Given the description of an element on the screen output the (x, y) to click on. 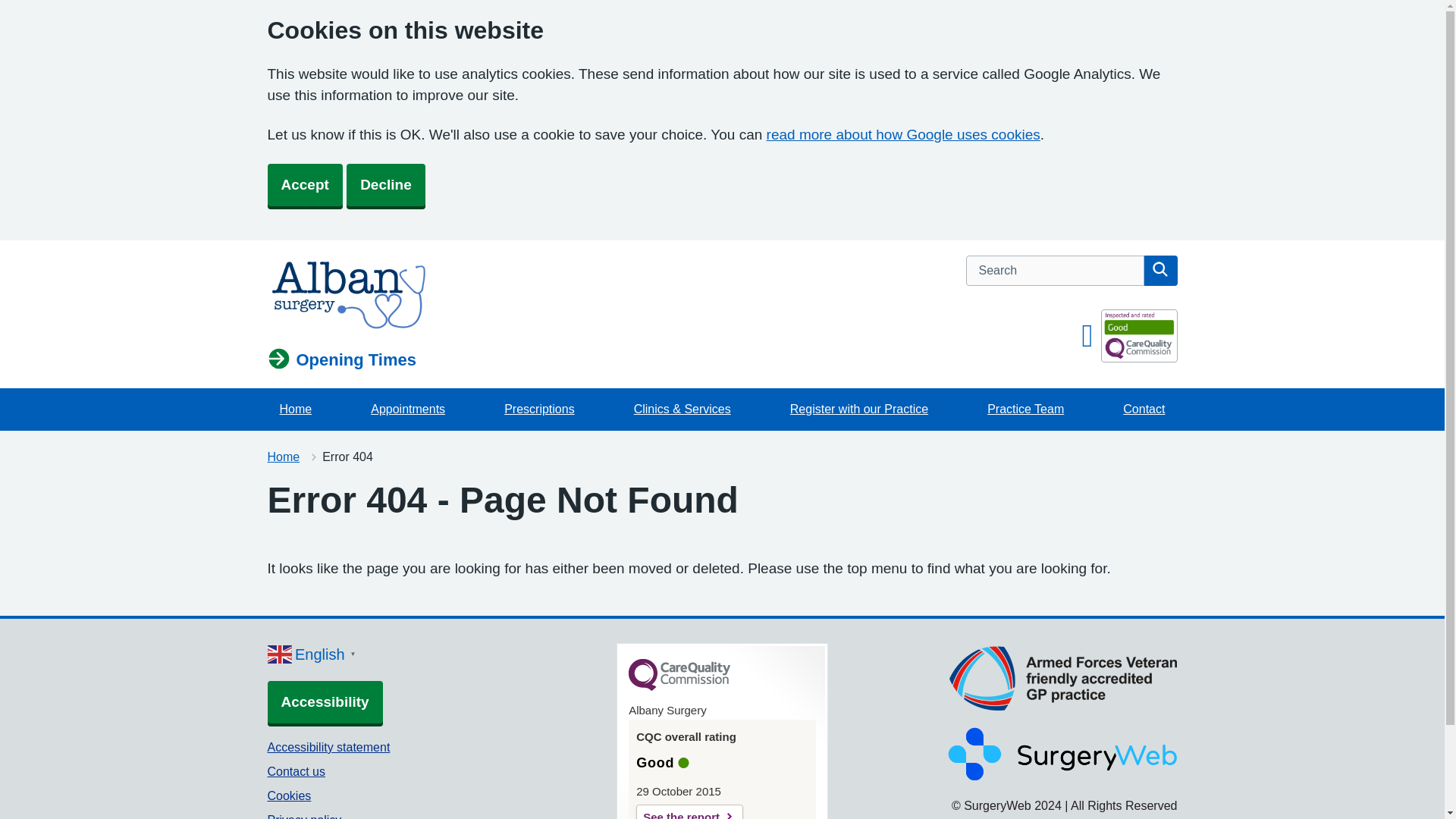
read more about how Google uses cookies (904, 134)
Home (294, 409)
Opening Times (341, 360)
Decline (385, 184)
Practice Team (1025, 409)
Home (282, 456)
CQC Logo (679, 686)
Register with our Practice (858, 409)
Accept (304, 184)
Prescriptions (539, 409)
Search (1159, 270)
Contact (1143, 409)
Home (282, 456)
Appointments (407, 409)
